Given the description of an element on the screen output the (x, y) to click on. 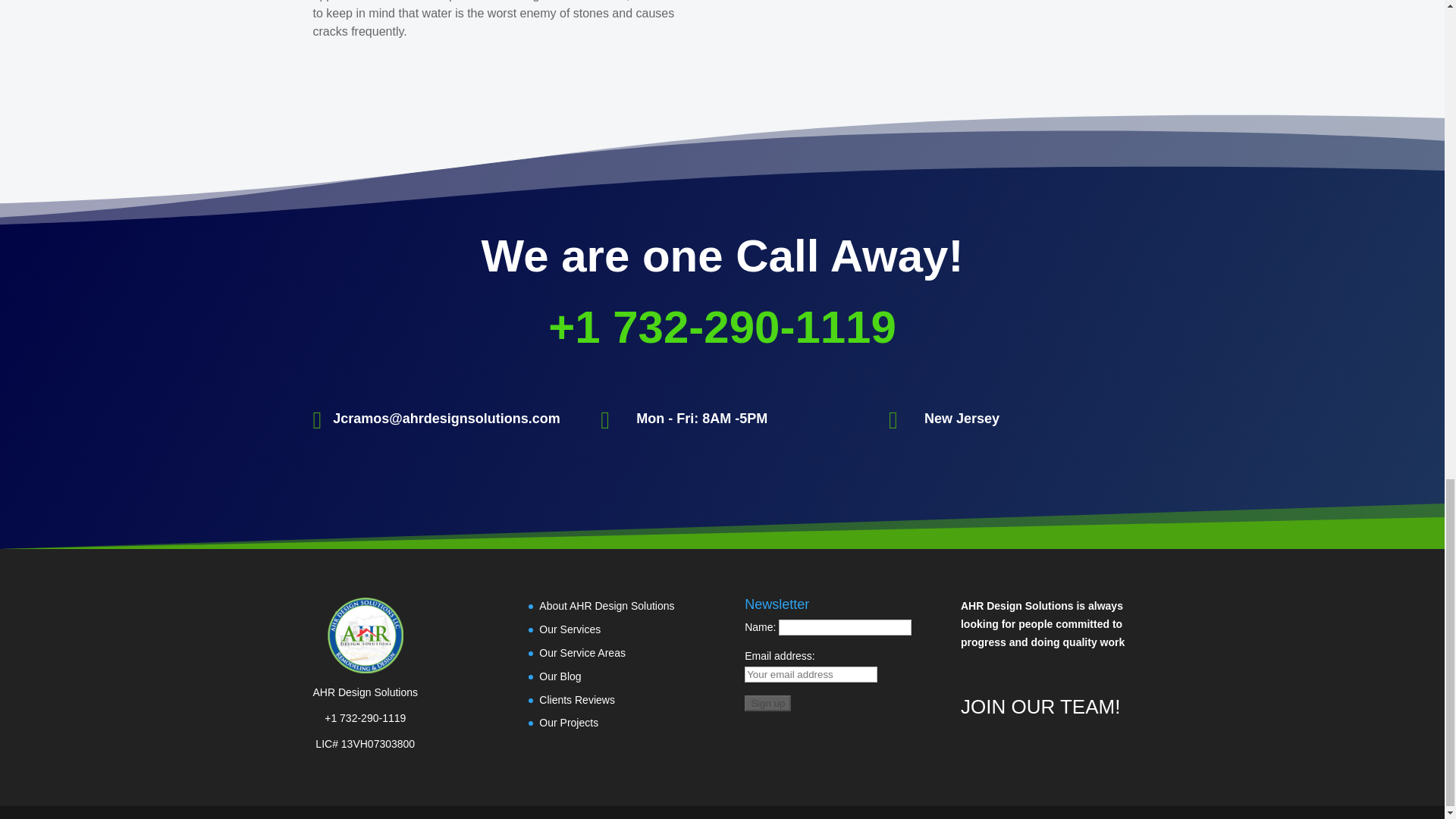
Sign up (767, 703)
